Given the description of an element on the screen output the (x, y) to click on. 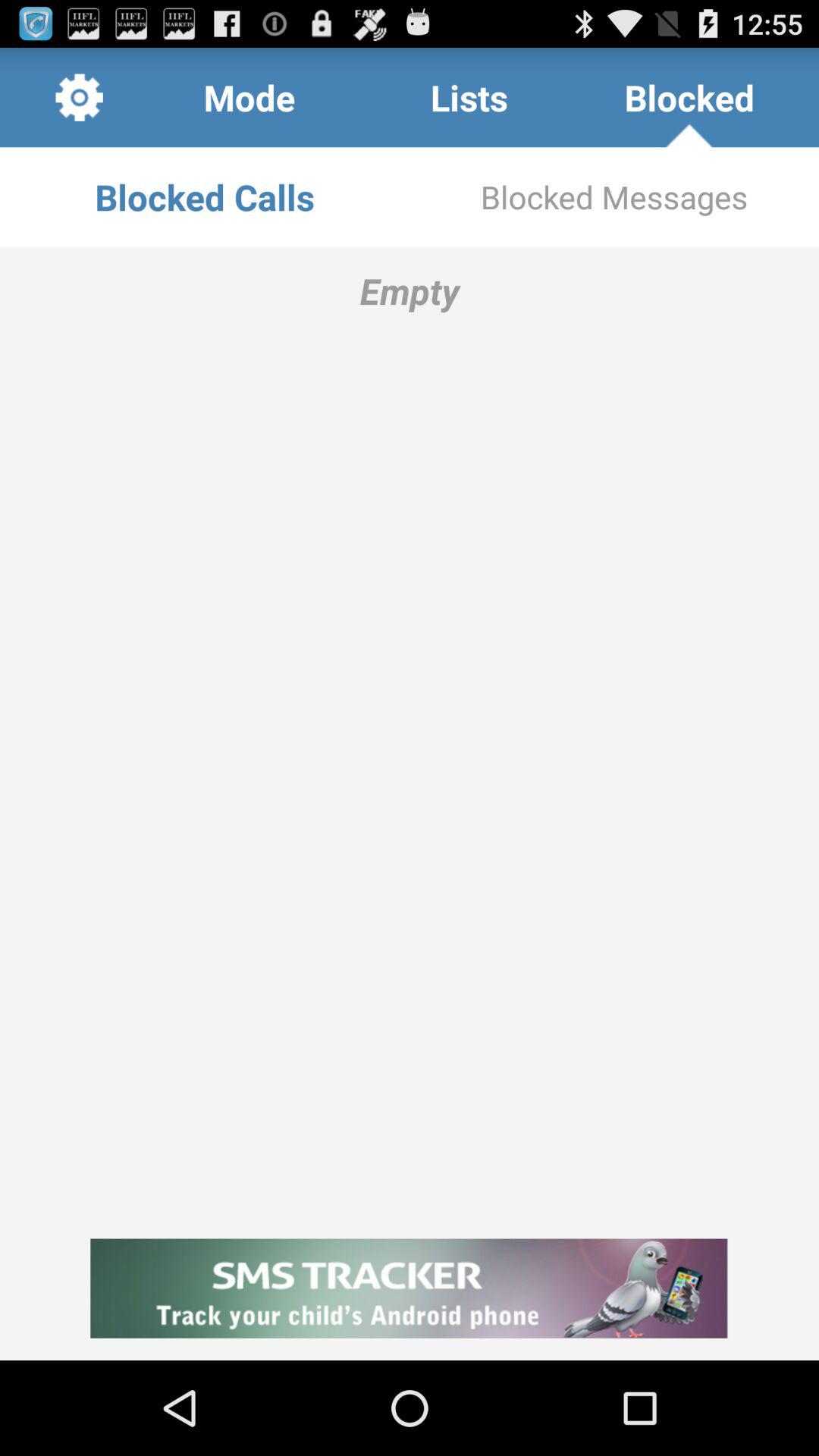
scroll until mode icon (249, 97)
